Given the description of an element on the screen output the (x, y) to click on. 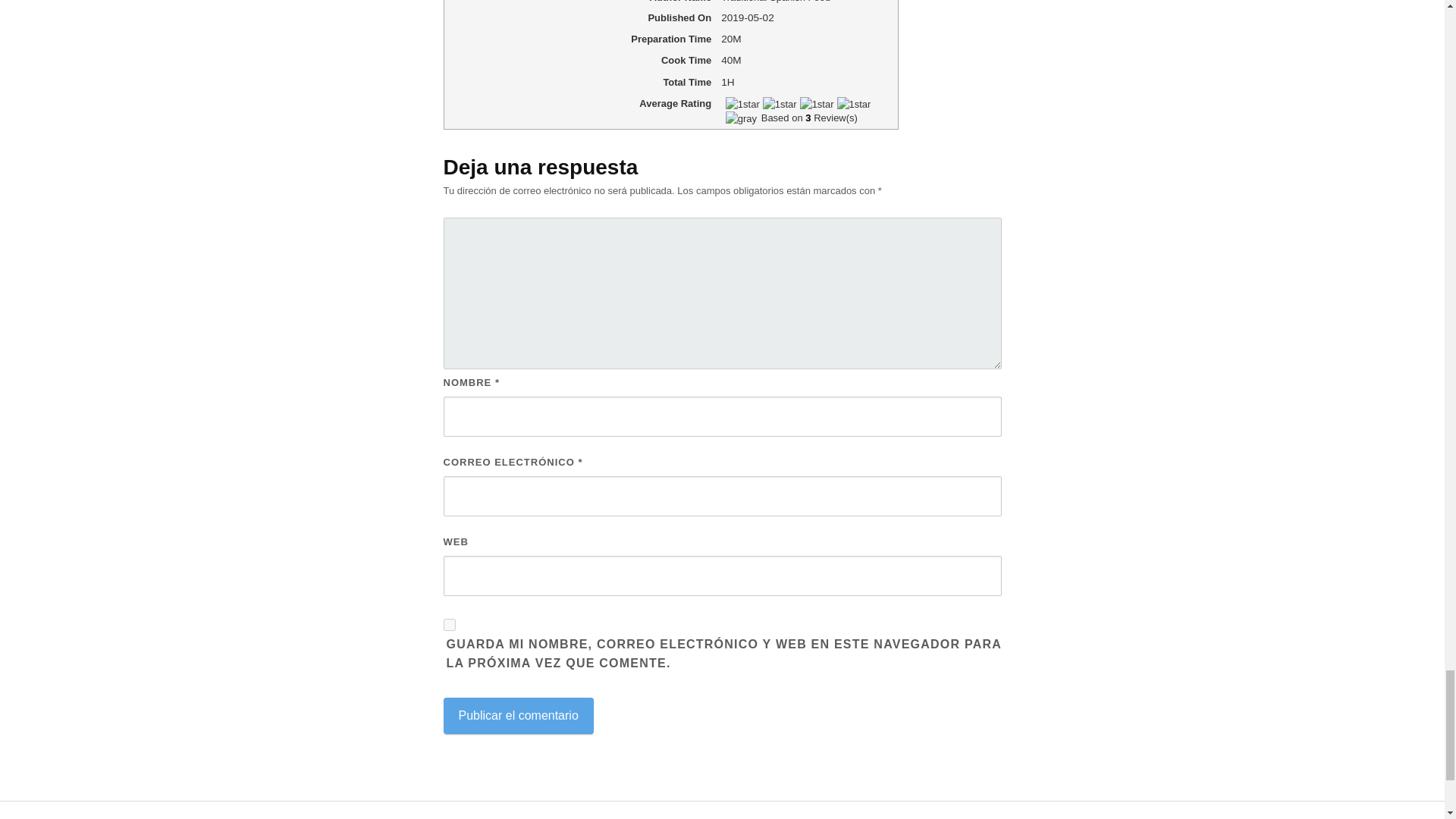
Publicar el comentario (517, 715)
Publicar el comentario (517, 715)
yes (448, 624)
